Given the description of an element on the screen output the (x, y) to click on. 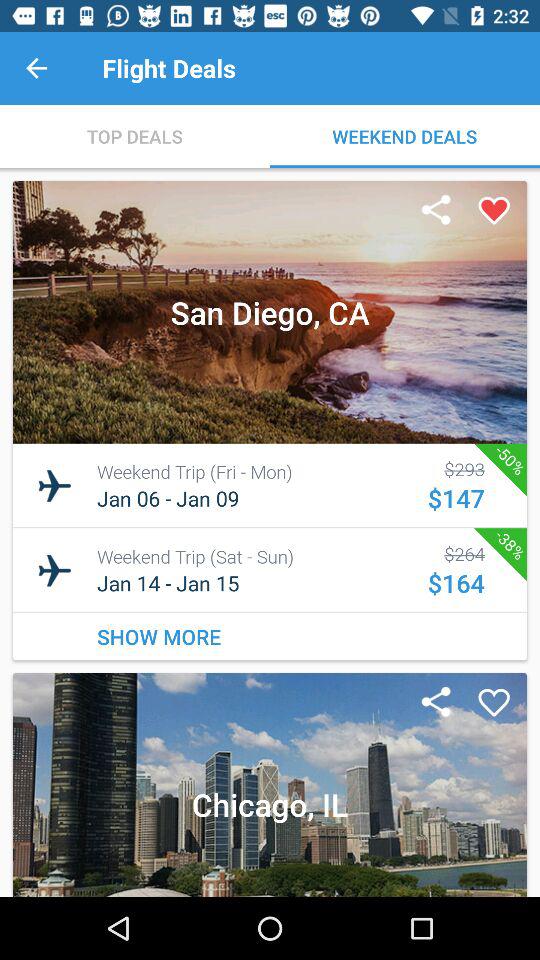
share the deal (435, 703)
